Given the description of an element on the screen output the (x, y) to click on. 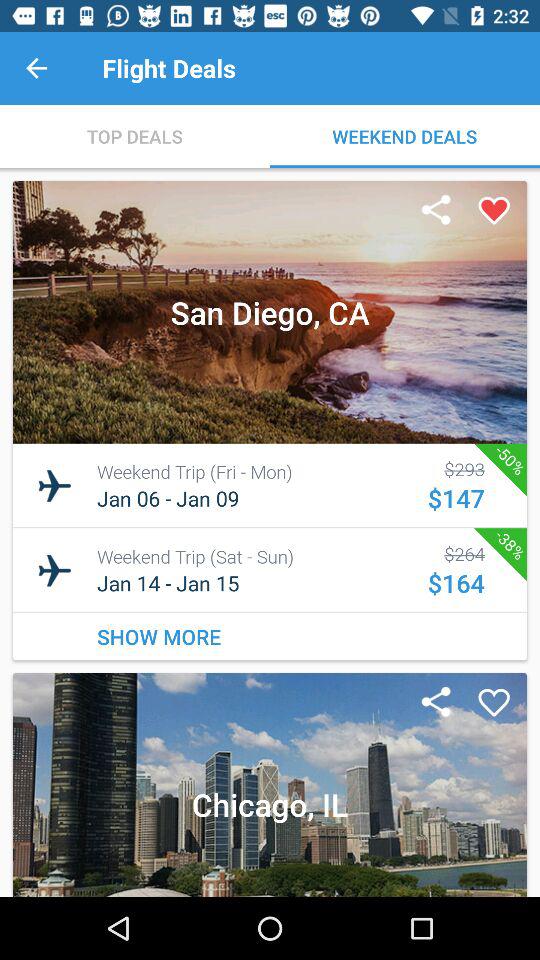
share the deal (435, 703)
